Given the description of an element on the screen output the (x, y) to click on. 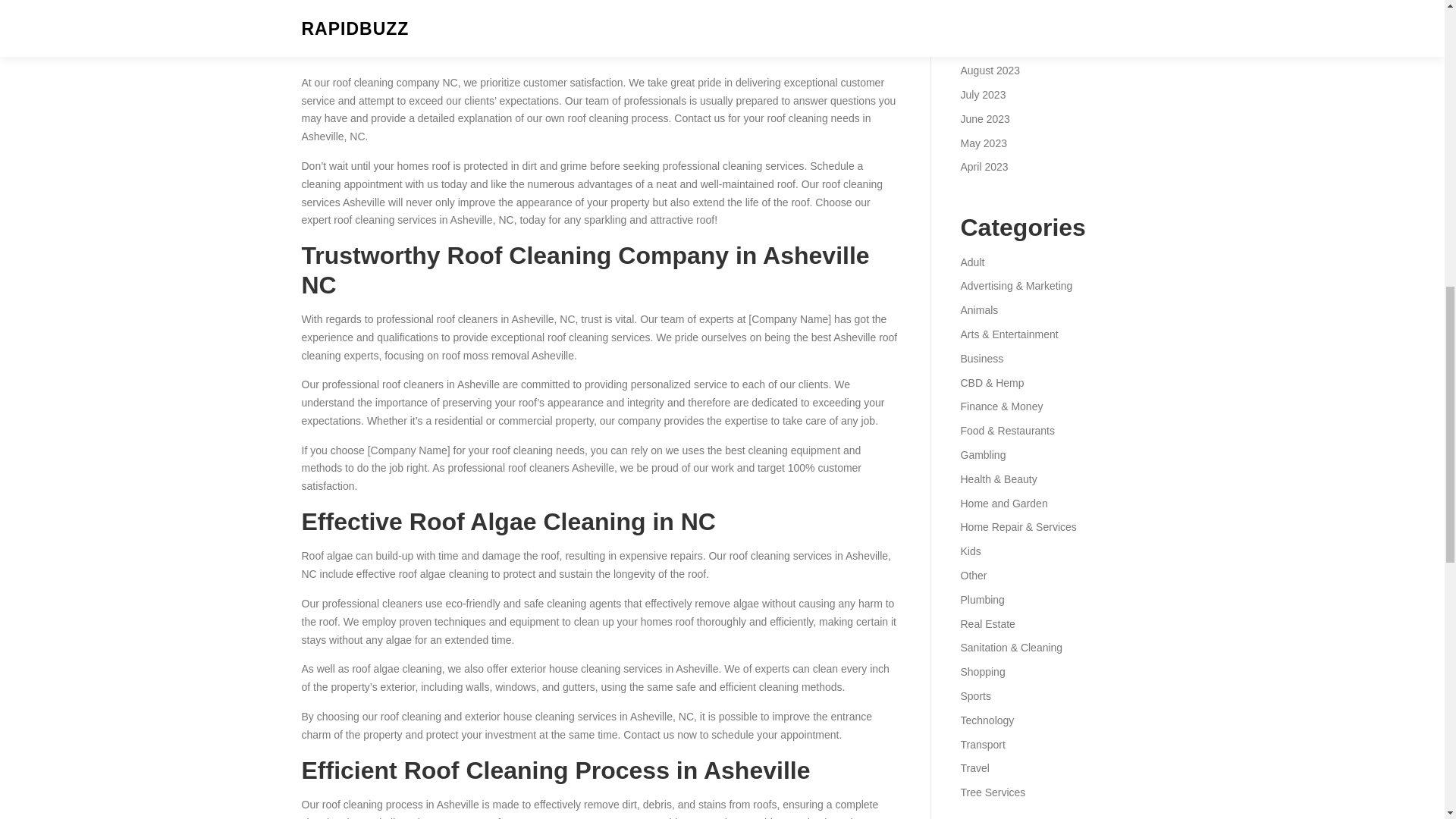
September 2023 (999, 46)
November 2023 (997, 2)
October 2023 (992, 22)
July 2023 (982, 94)
April 2023 (983, 166)
August 2023 (989, 70)
June 2023 (984, 119)
Business (981, 358)
May 2023 (982, 143)
Adult (971, 262)
Animals (978, 309)
